Given the description of an element on the screen output the (x, y) to click on. 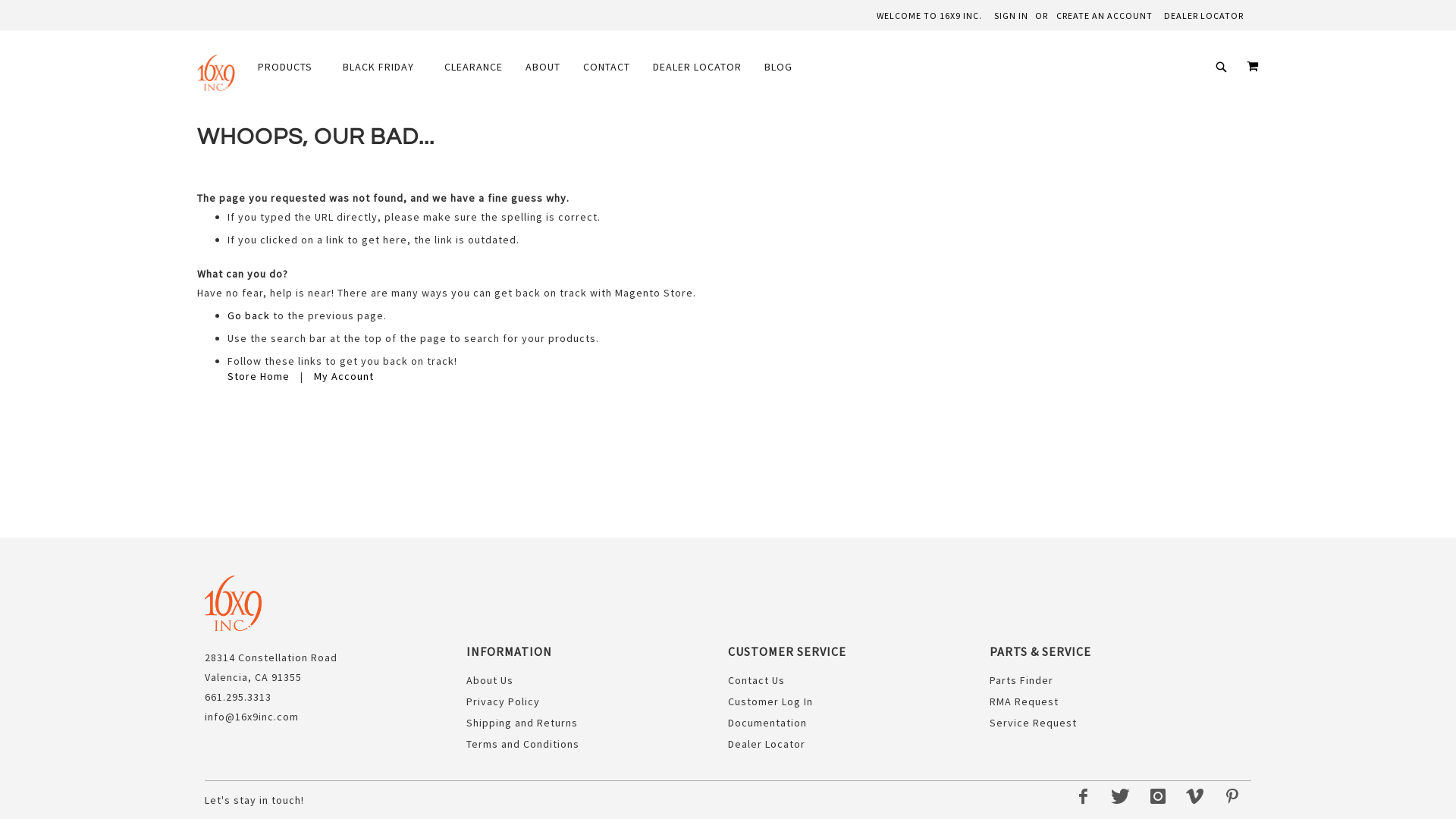
CREATE AN ACCOUNT Element type: text (1104, 15)
BLOG Element type: text (781, 66)
Documentation Element type: text (767, 722)
SIGN IN Element type: text (1011, 15)
Go back Element type: text (248, 315)
CONTACT Element type: text (606, 66)
DEALER LOCATOR Element type: text (697, 66)
MY CART Element type: text (1252, 65)
BLACK FRIDAY Element type: text (382, 66)
DEALER LOCATOR Element type: text (1203, 15)
Contact Us Element type: text (756, 679)
About Us Element type: text (489, 679)
Customer Log In Element type: text (770, 701)
Terms and Conditions Element type: text (522, 743)
661.295.3313 Element type: text (237, 696)
Dealer Locator Element type: text (766, 743)
info@16x9inc.com Element type: text (251, 716)
16x9 Inc. Element type: hover (216, 72)
Privacy Policy Element type: text (502, 701)
Parts Finder Element type: text (1021, 679)
ABOUT Element type: text (542, 66)
Service Request Element type: text (1032, 722)
PRODUCTS Element type: text (292, 66)
CLEARANCE Element type: text (473, 66)
My Account Element type: text (343, 375)
Store Home Element type: text (258, 375)
RMA Request Element type: text (1023, 701)
Shipping and Returns Element type: text (521, 722)
